Given the description of an element on the screen output the (x, y) to click on. 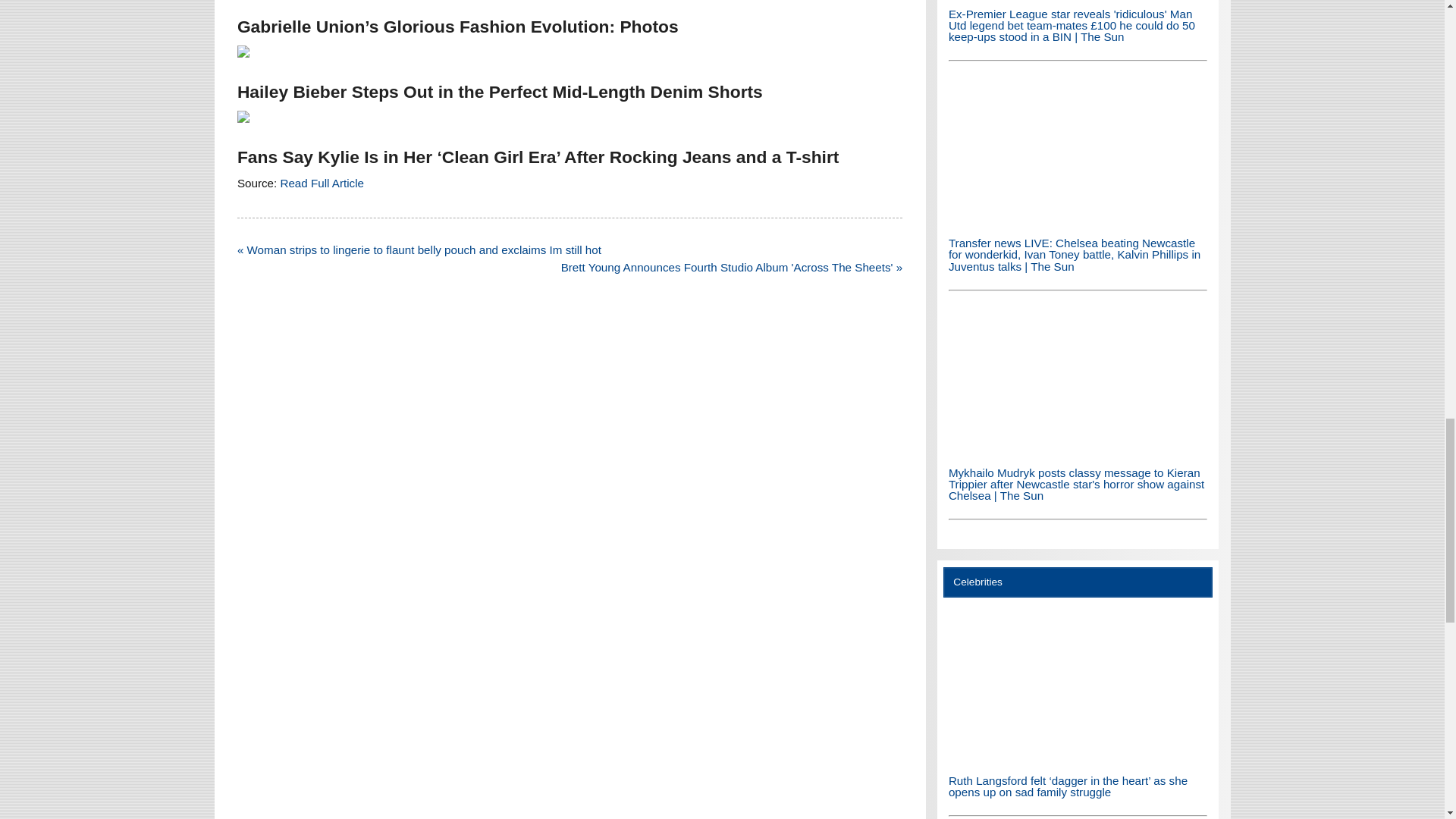
Read Full Article (321, 182)
